Given the description of an element on the screen output the (x, y) to click on. 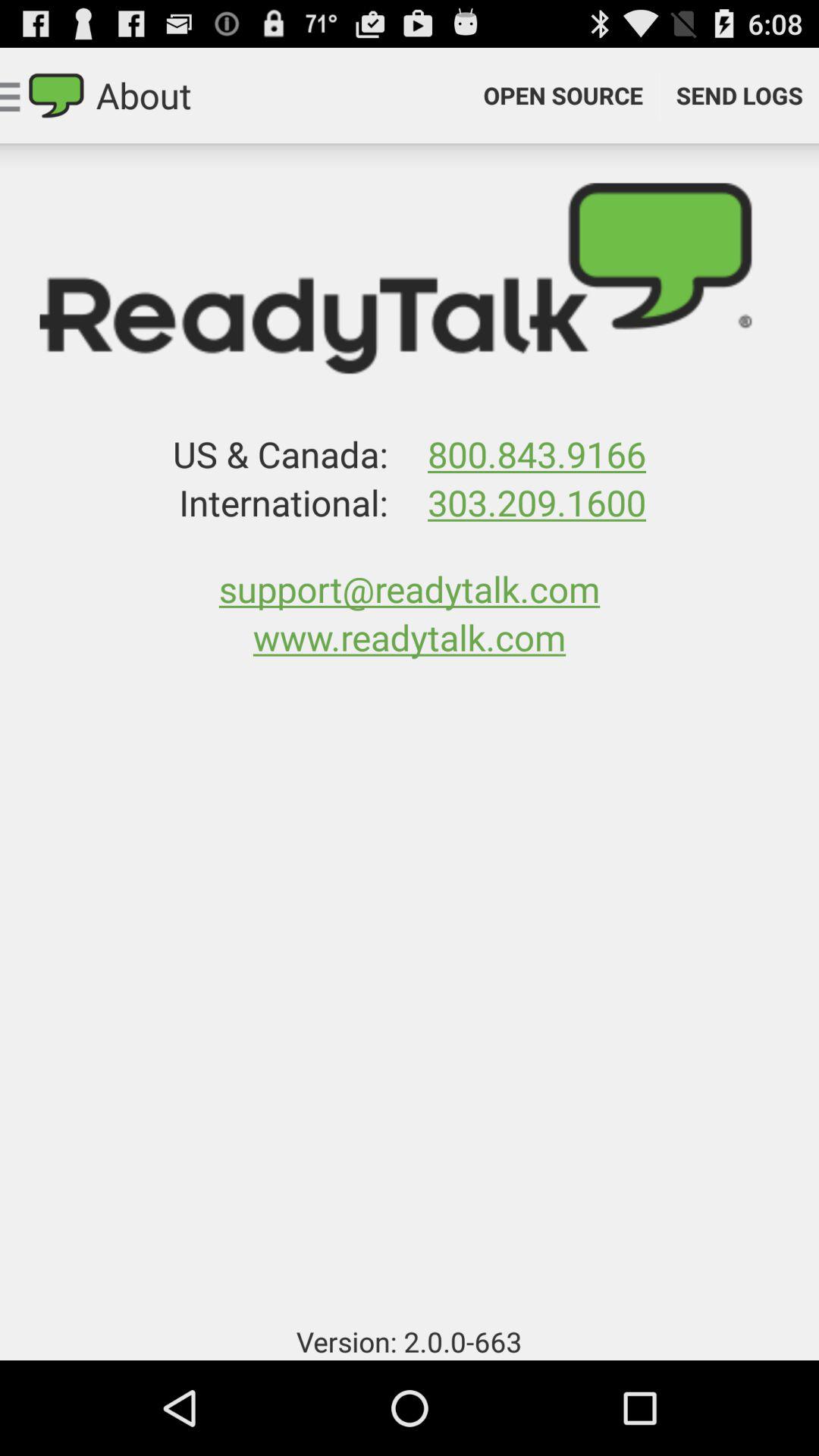
select the item below 800.843.9166 icon (536, 502)
